Given the description of an element on the screen output the (x, y) to click on. 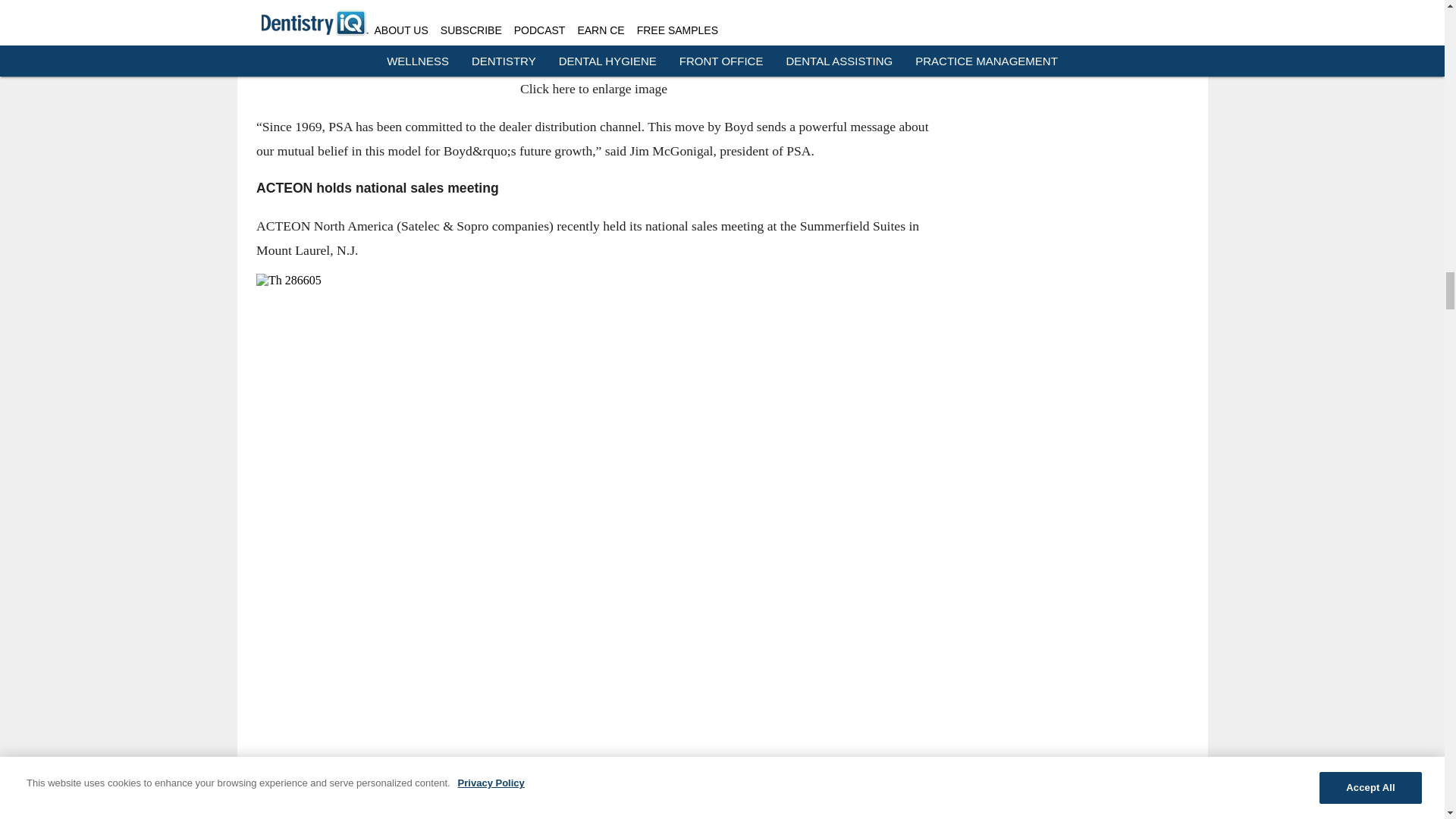
Th 286604 (593, 19)
